Given the description of an element on the screen output the (x, y) to click on. 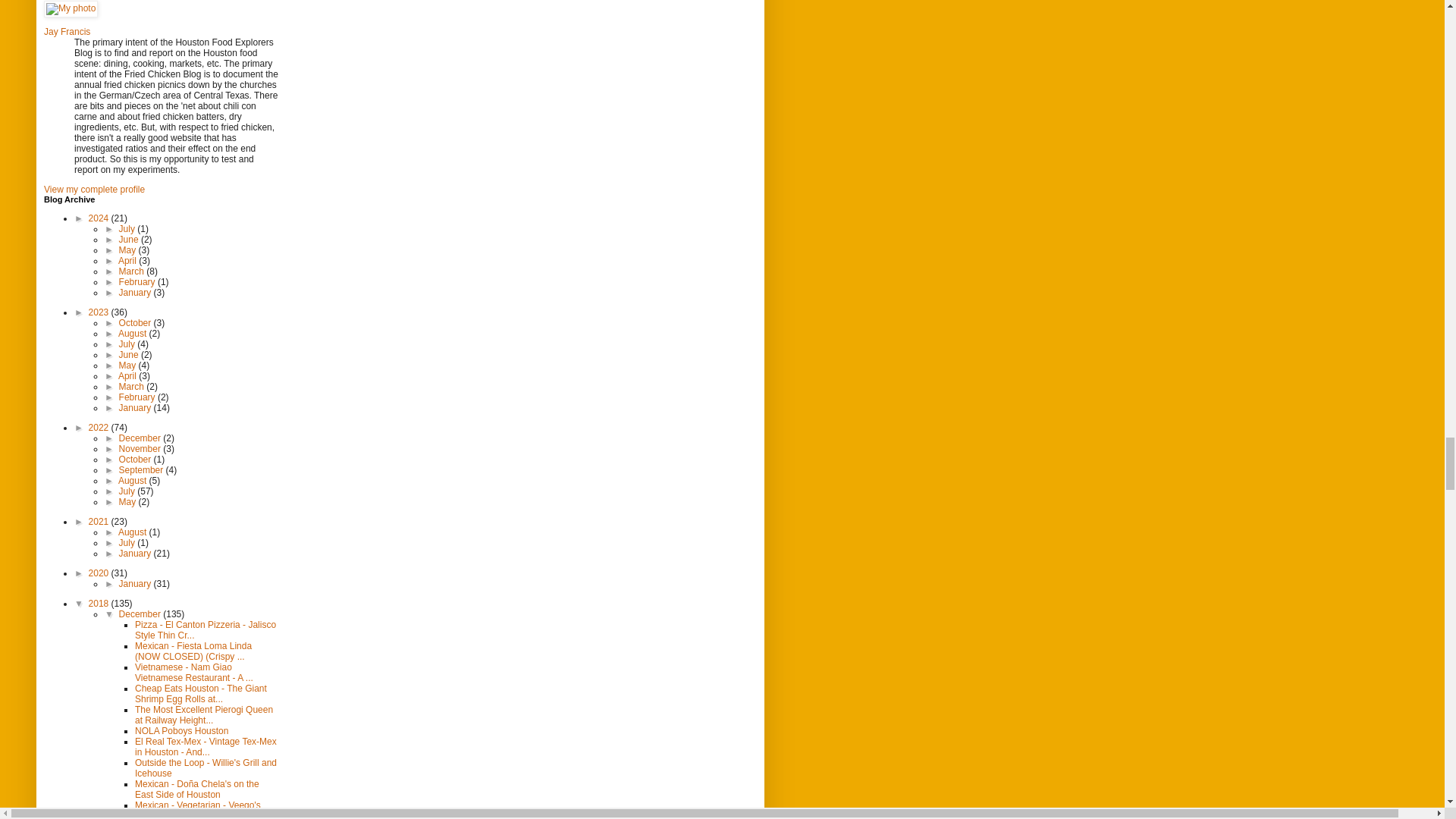
2024 (100, 217)
View my complete profile (93, 189)
Jay Francis (66, 31)
